Given the description of an element on the screen output the (x, y) to click on. 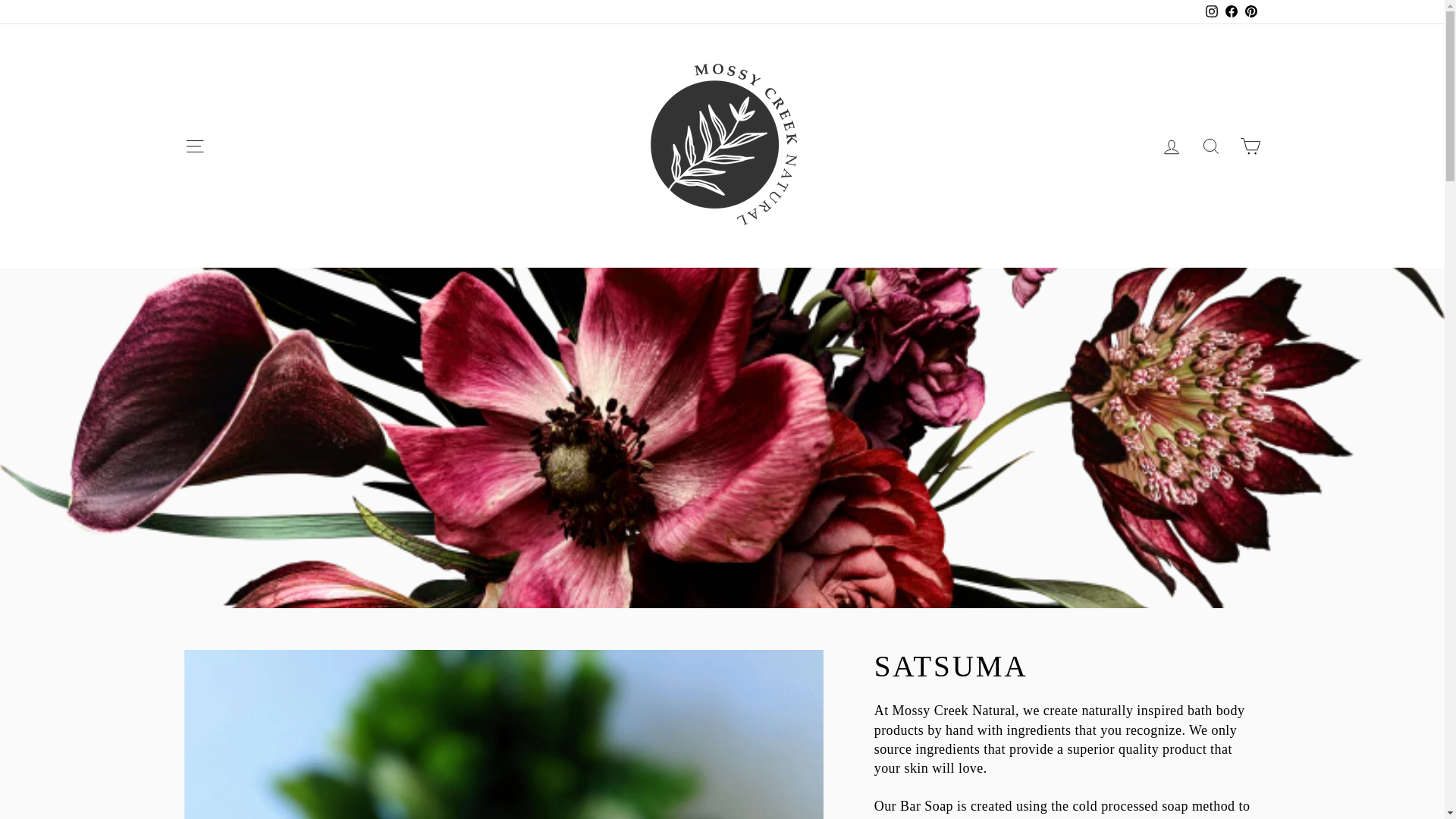
instagram (1211, 10)
ICON-HAMBURGER (194, 145)
ACCOUNT (194, 146)
ICON-SEARCH (1170, 147)
CART (1210, 146)
